Given the description of an element on the screen output the (x, y) to click on. 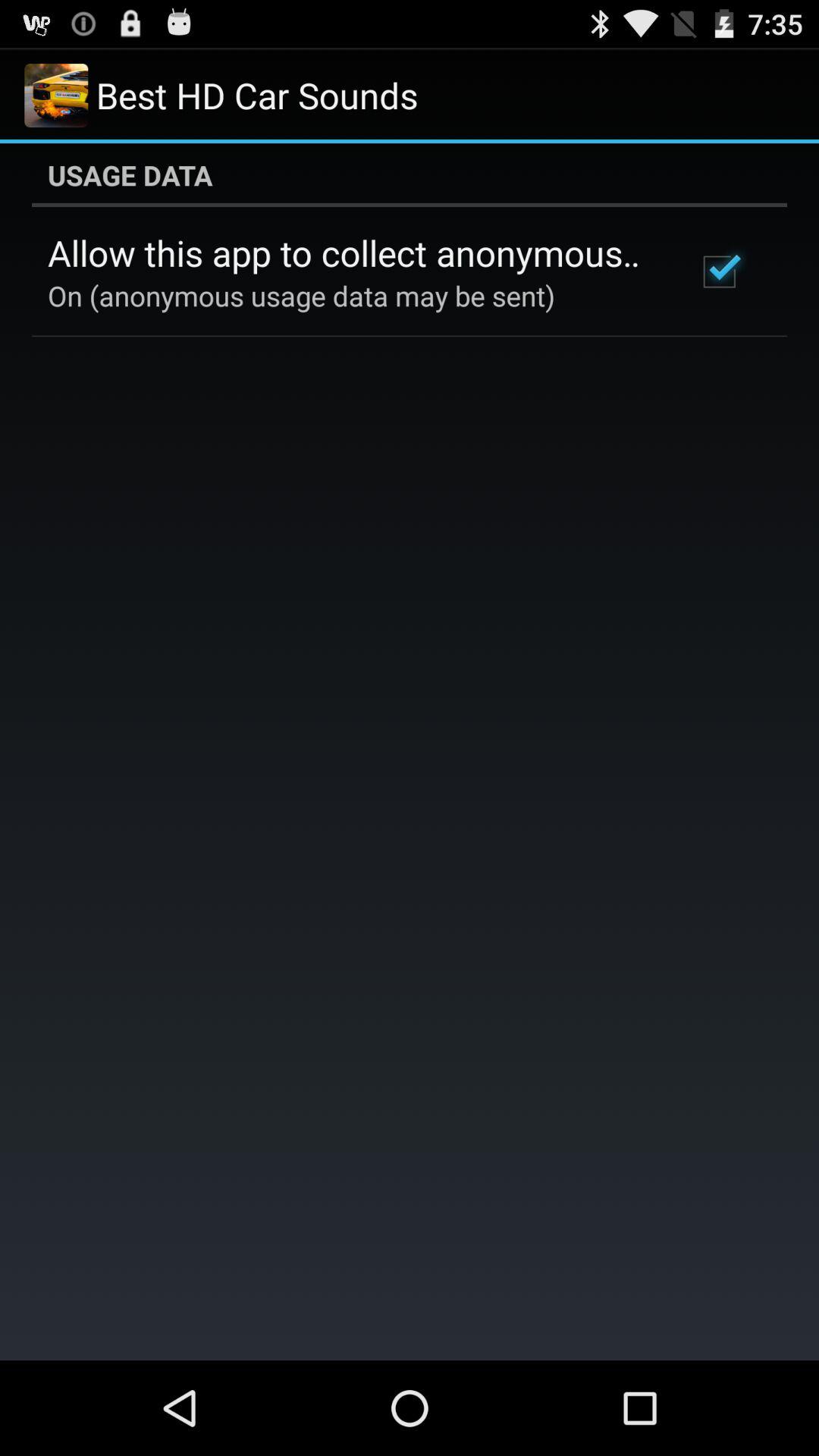
turn off icon above the on anonymous usage (351, 252)
